Given the description of an element on the screen output the (x, y) to click on. 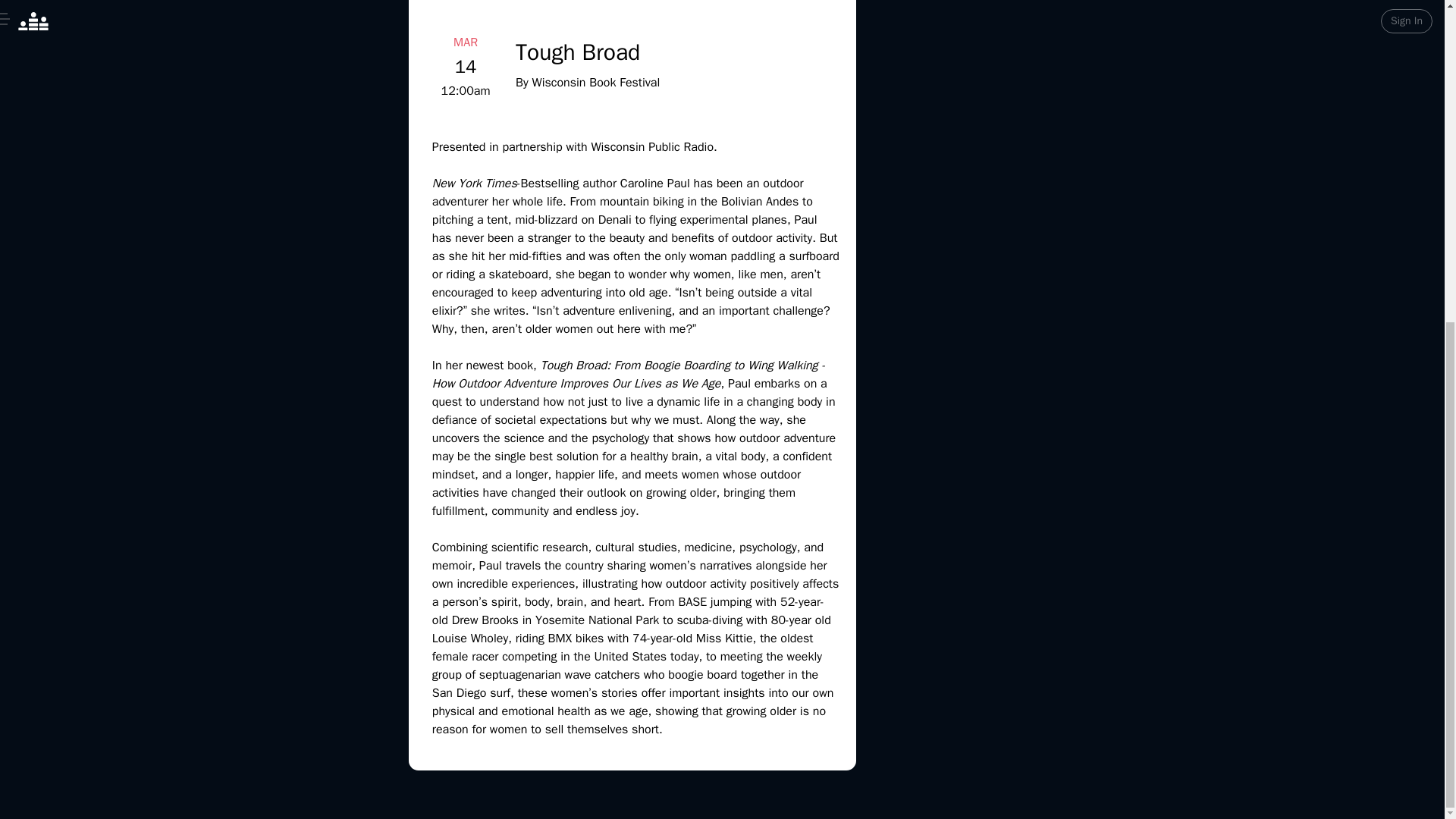
Open in Android app (721, 332)
